Given the description of an element on the screen output the (x, y) to click on. 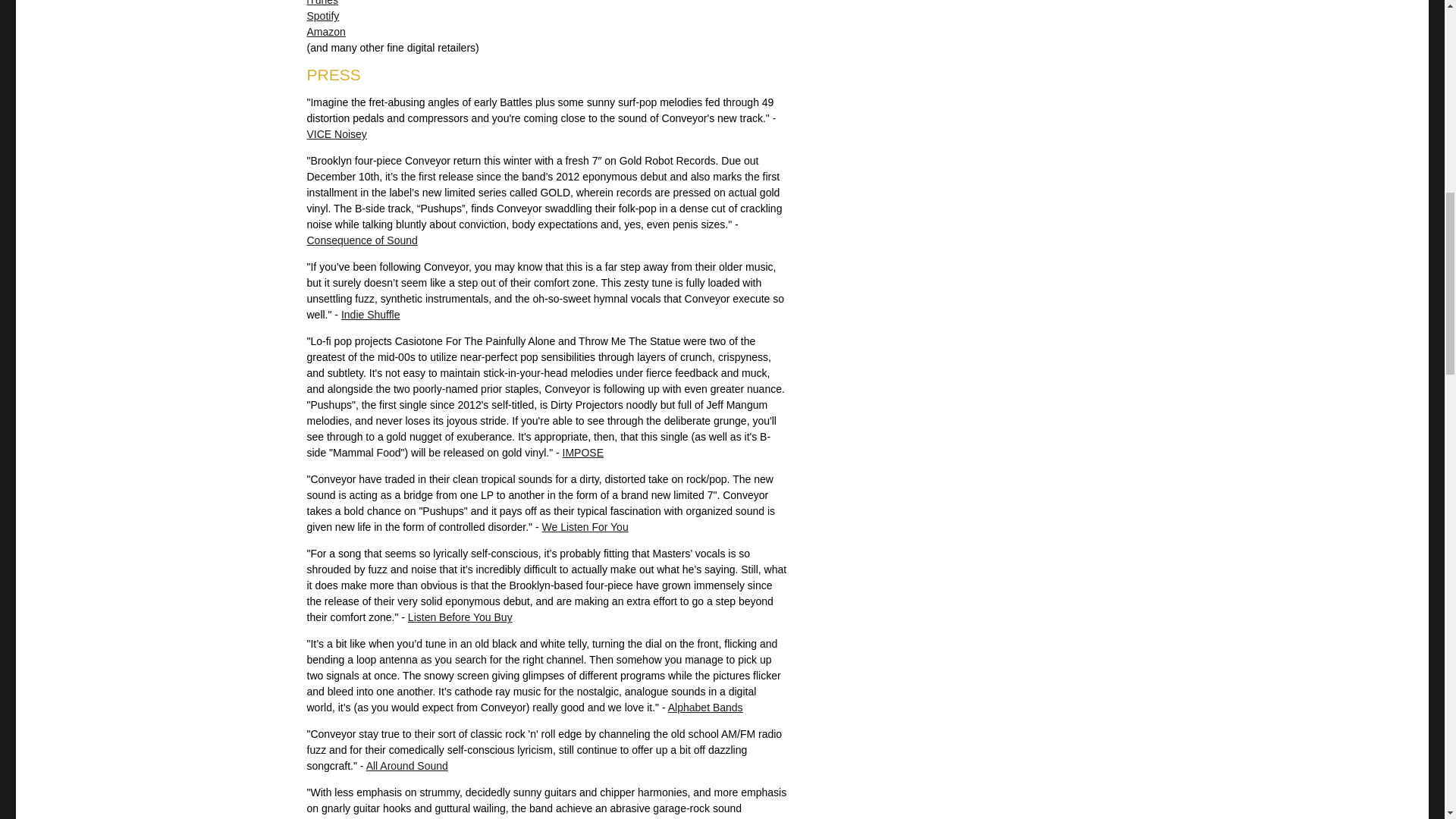
We Listen For You (584, 526)
IMPOSE (583, 452)
Consequence of Sound (360, 240)
Spotify (322, 15)
Listen Before You Buy (459, 616)
Alphabet Bands (705, 707)
VICE Noisey (335, 133)
All Around Sound (407, 766)
Amazon (325, 31)
iTunes (321, 2)
Indie Shuffle (370, 314)
